Given the description of an element on the screen output the (x, y) to click on. 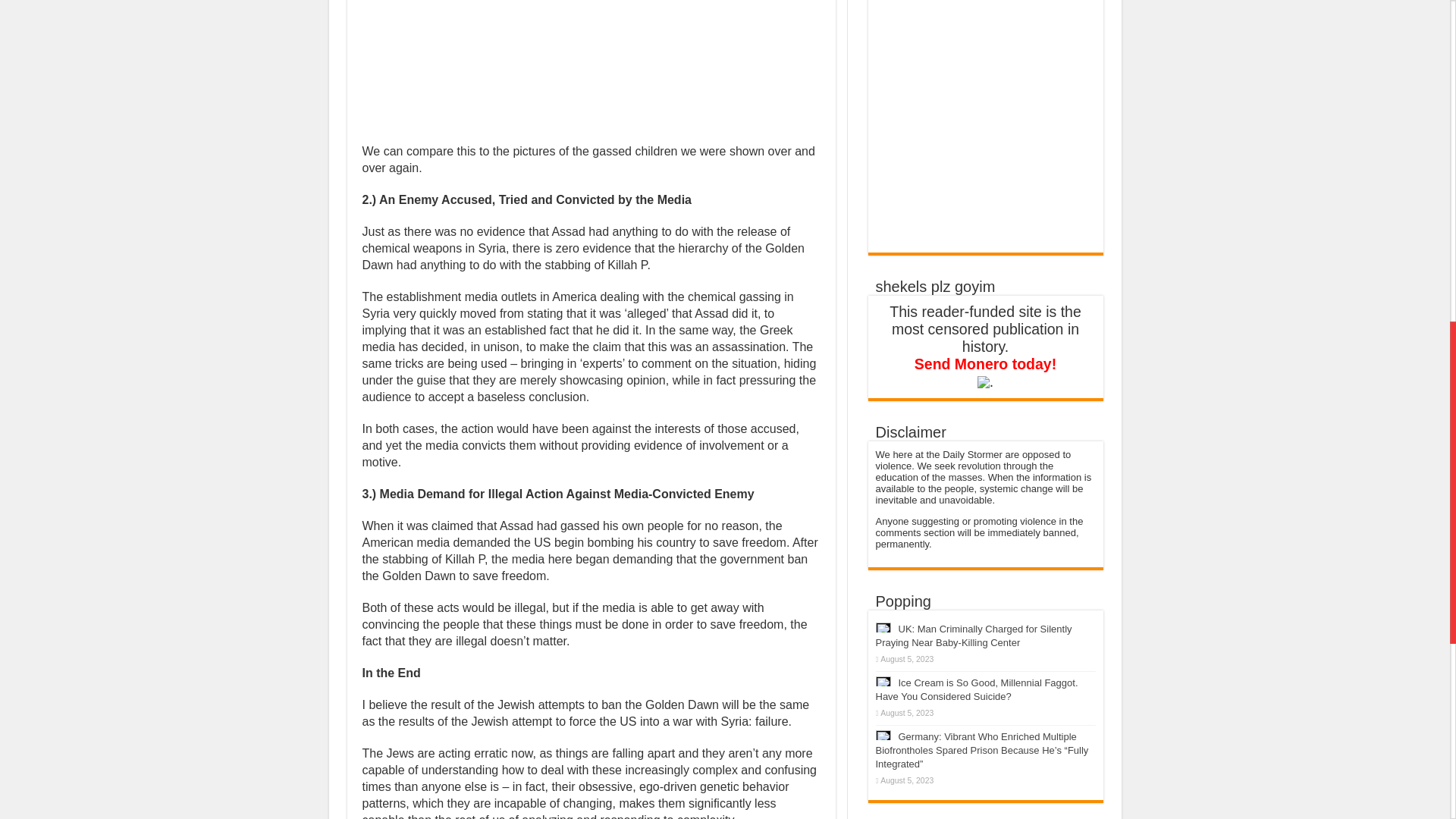
Send Monero today! (985, 372)
